Given the description of an element on the screen output the (x, y) to click on. 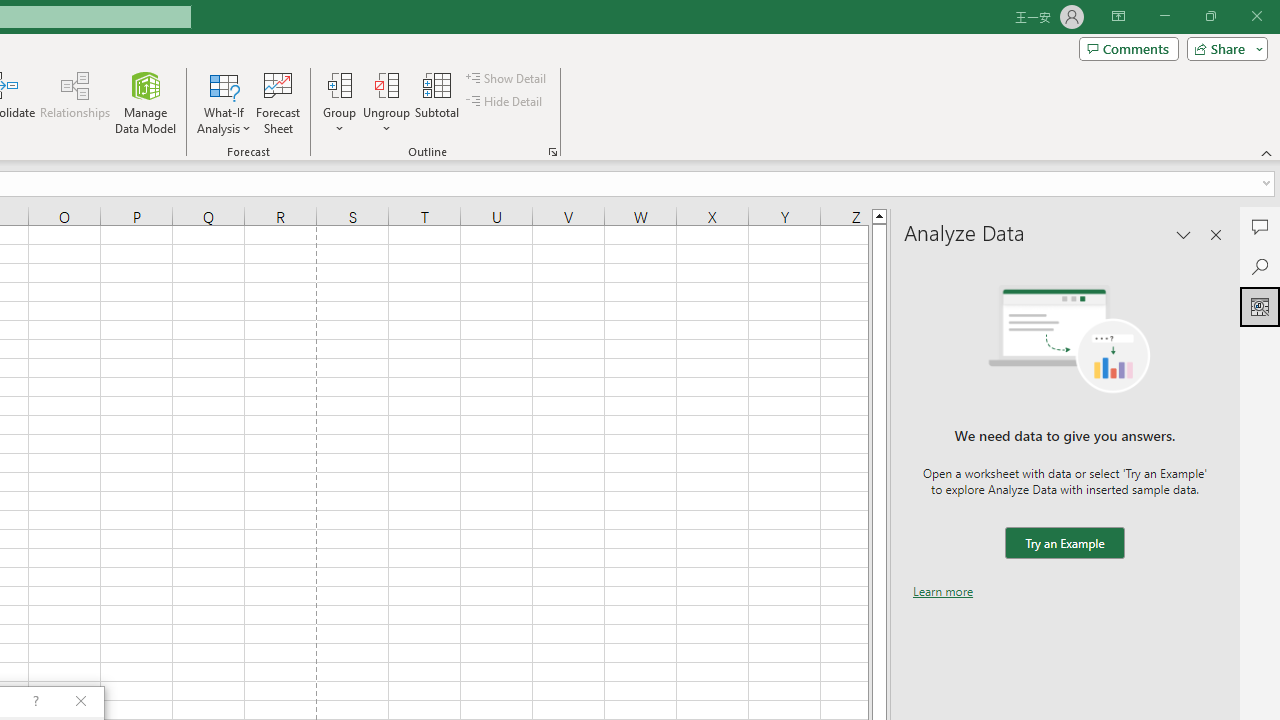
Learn more (943, 591)
Forecast Sheet (278, 102)
Hide Detail (505, 101)
Show Detail (507, 78)
We need data to give you answers. Try an Example (1064, 543)
Group and Outline Settings (552, 151)
